Given the description of an element on the screen output the (x, y) to click on. 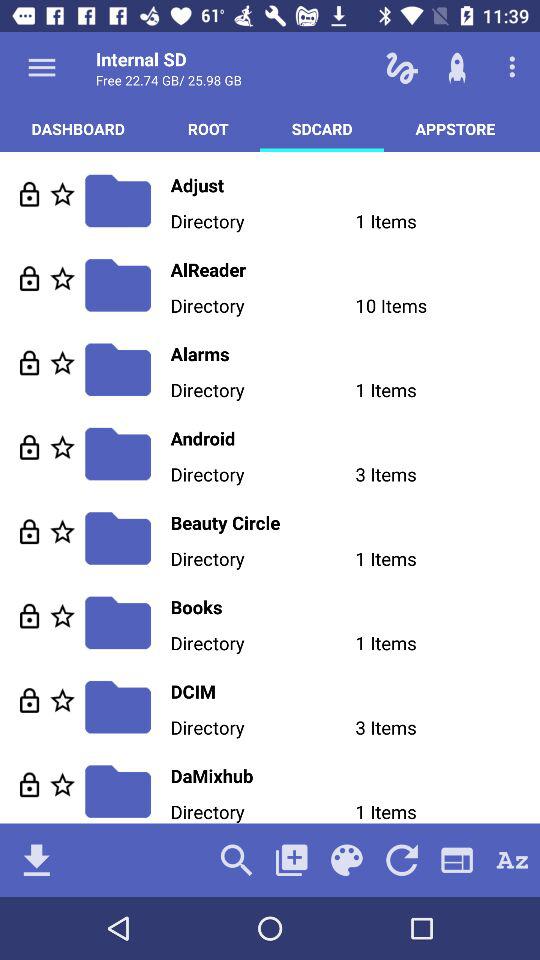
click the icon above the directory icon (355, 437)
